Given the description of an element on the screen output the (x, y) to click on. 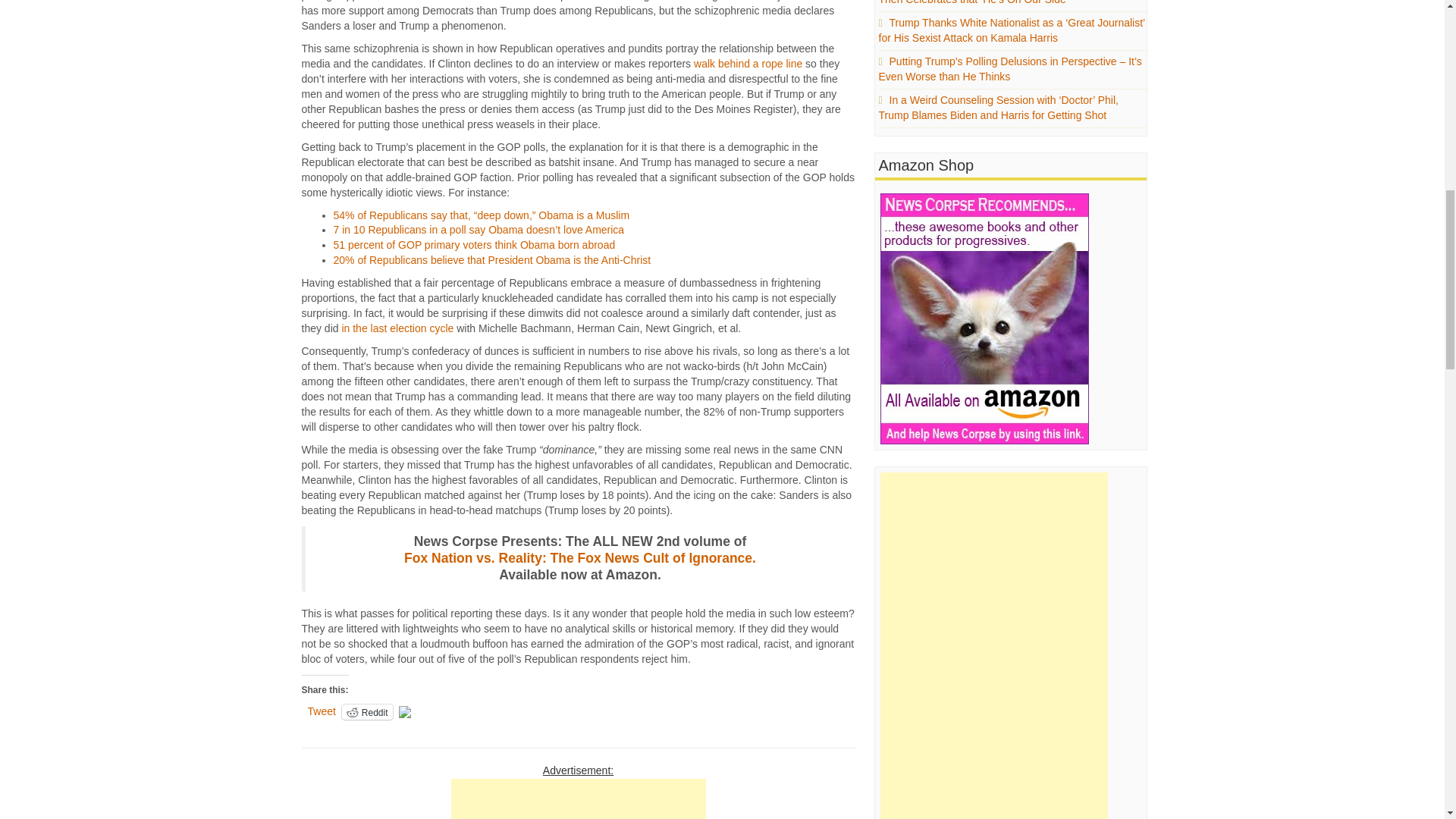
in the last election cycle (396, 328)
Tweet (321, 711)
Fox Nation vs. Reality: The Fox News Cult of Ignorance. (579, 557)
51 percent of GOP primary voters think Obama born abroad (474, 244)
walk behind a rope line (748, 63)
Click to share on Reddit (367, 711)
Reddit (367, 711)
